Given the description of an element on the screen output the (x, y) to click on. 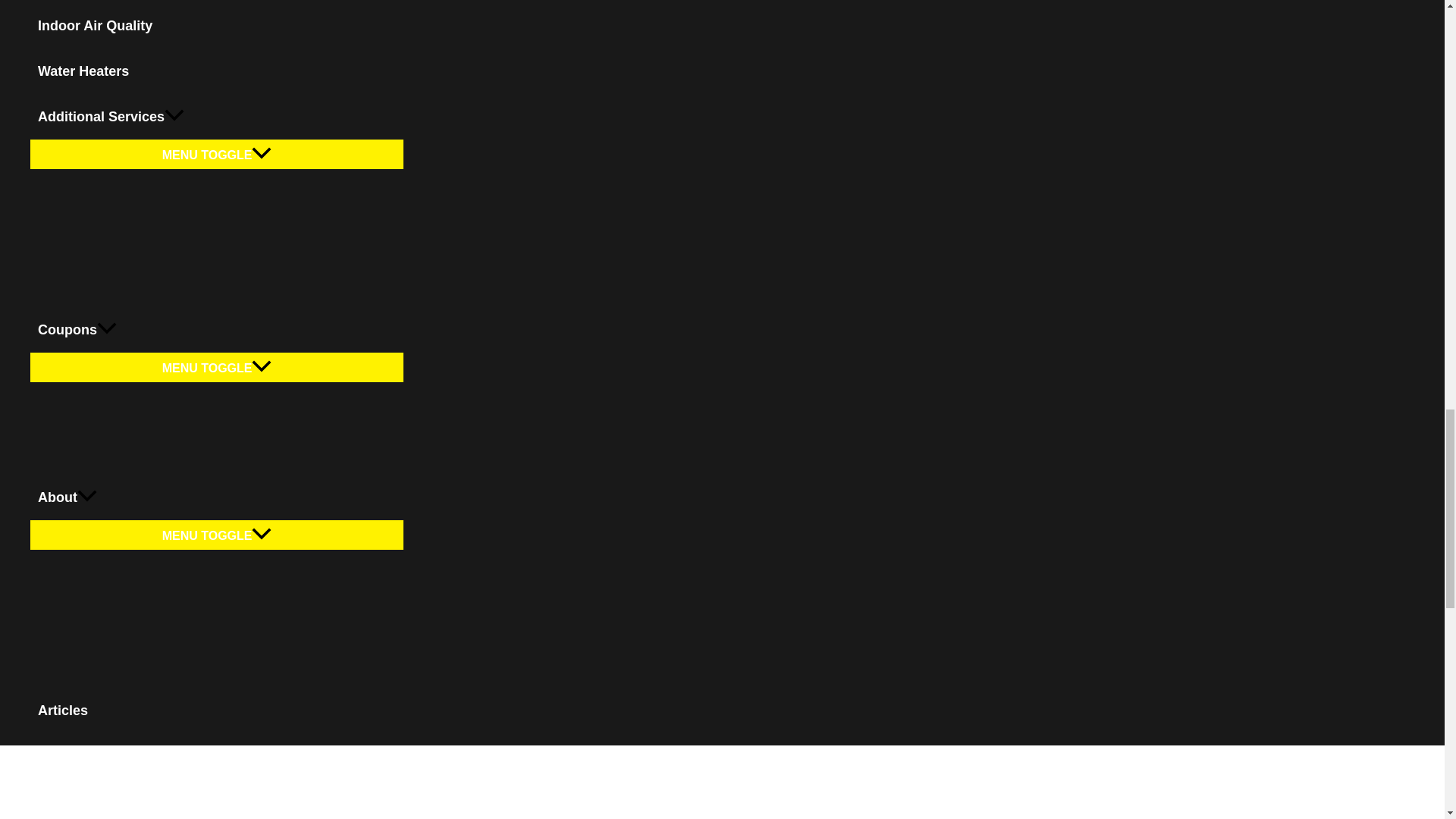
Water Heaters (216, 71)
MENU TOGGLE (216, 153)
Indoor Air Quality (216, 25)
Additional Services (216, 116)
